Given the description of an element on the screen output the (x, y) to click on. 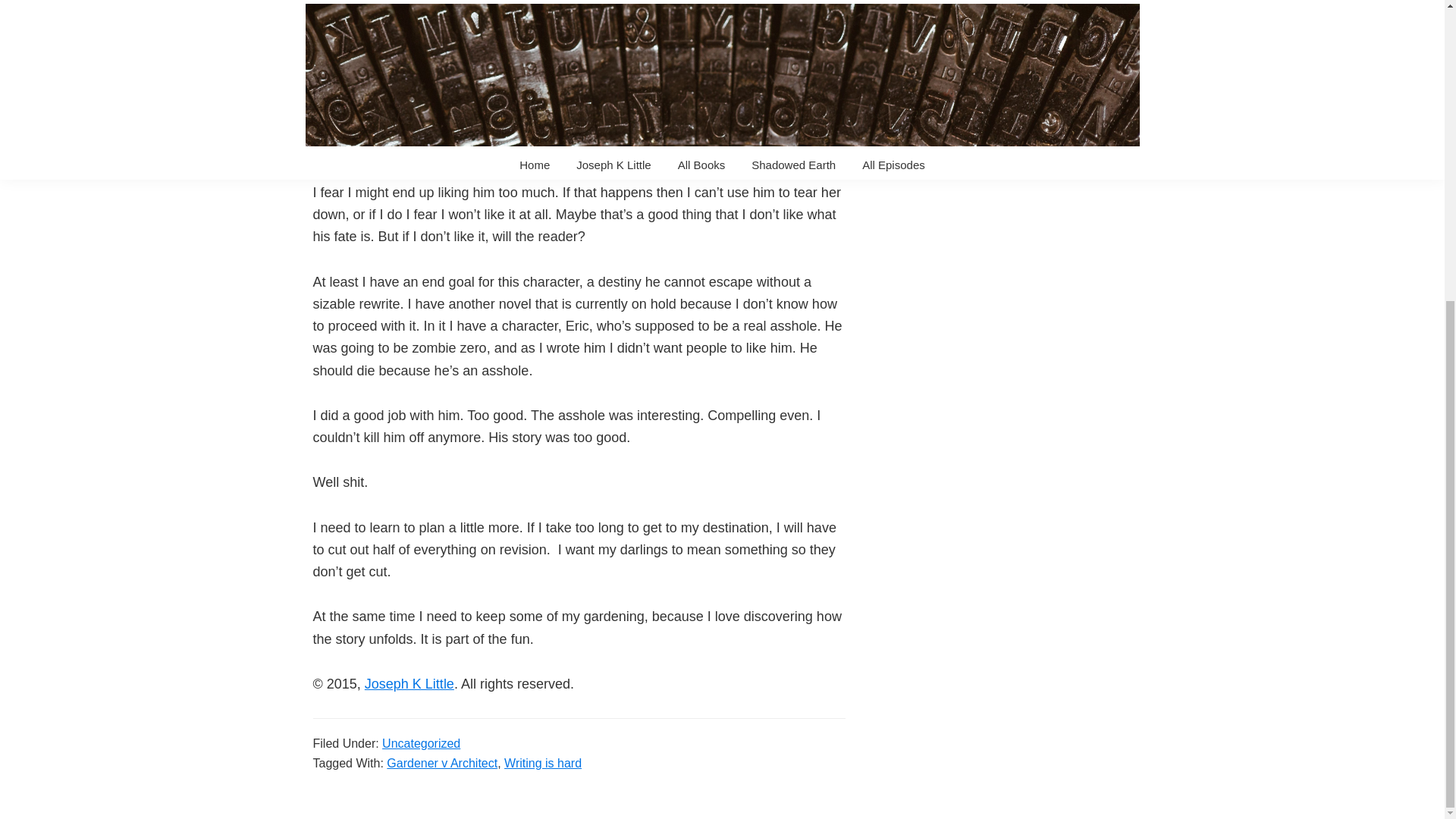
Gardener v Architect (442, 762)
Uncategorized (420, 743)
Writing is hard (541, 762)
Joseph K Little (409, 683)
